Given the description of an element on the screen output the (x, y) to click on. 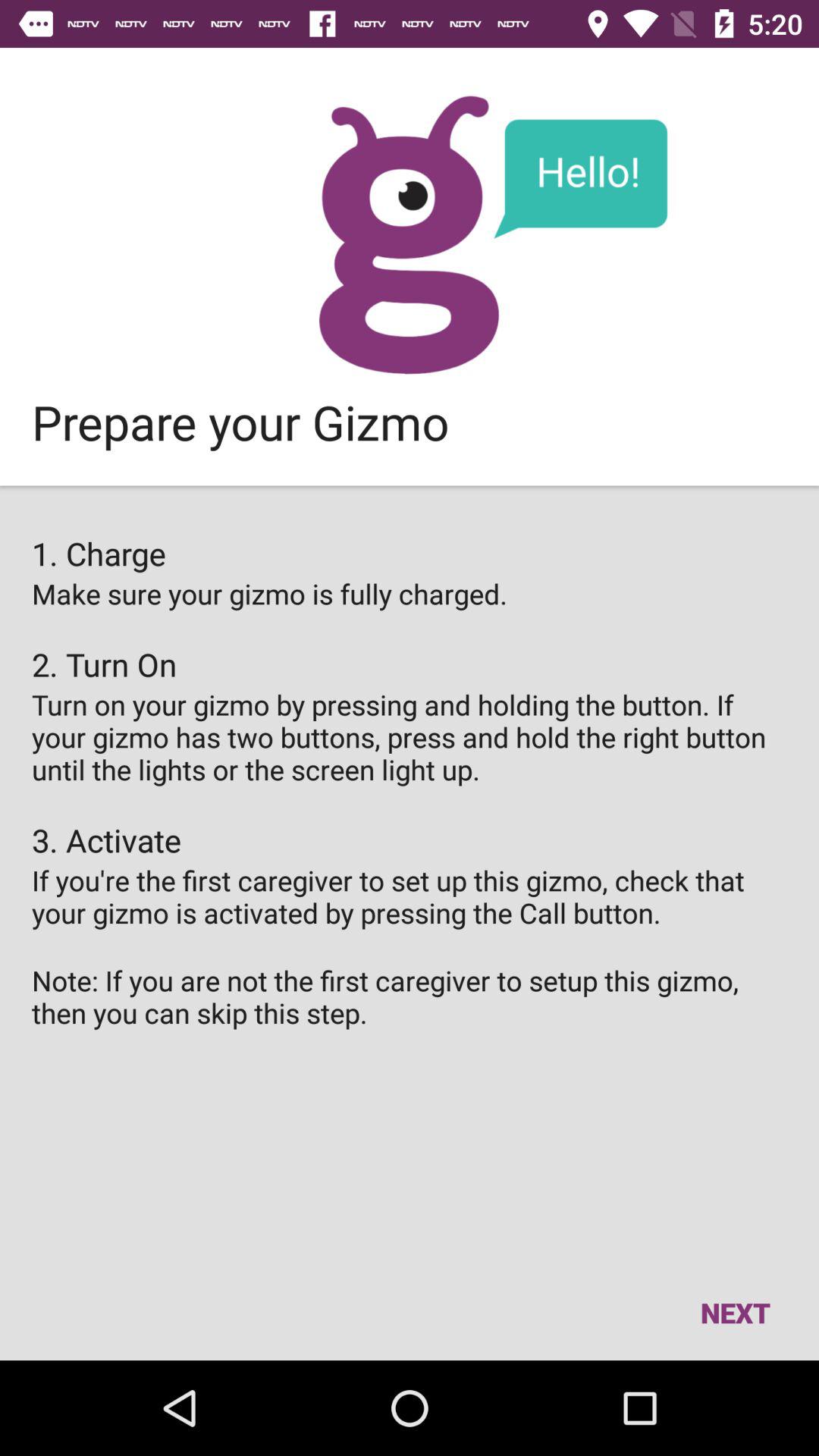
jump until next (735, 1312)
